Given the description of an element on the screen output the (x, y) to click on. 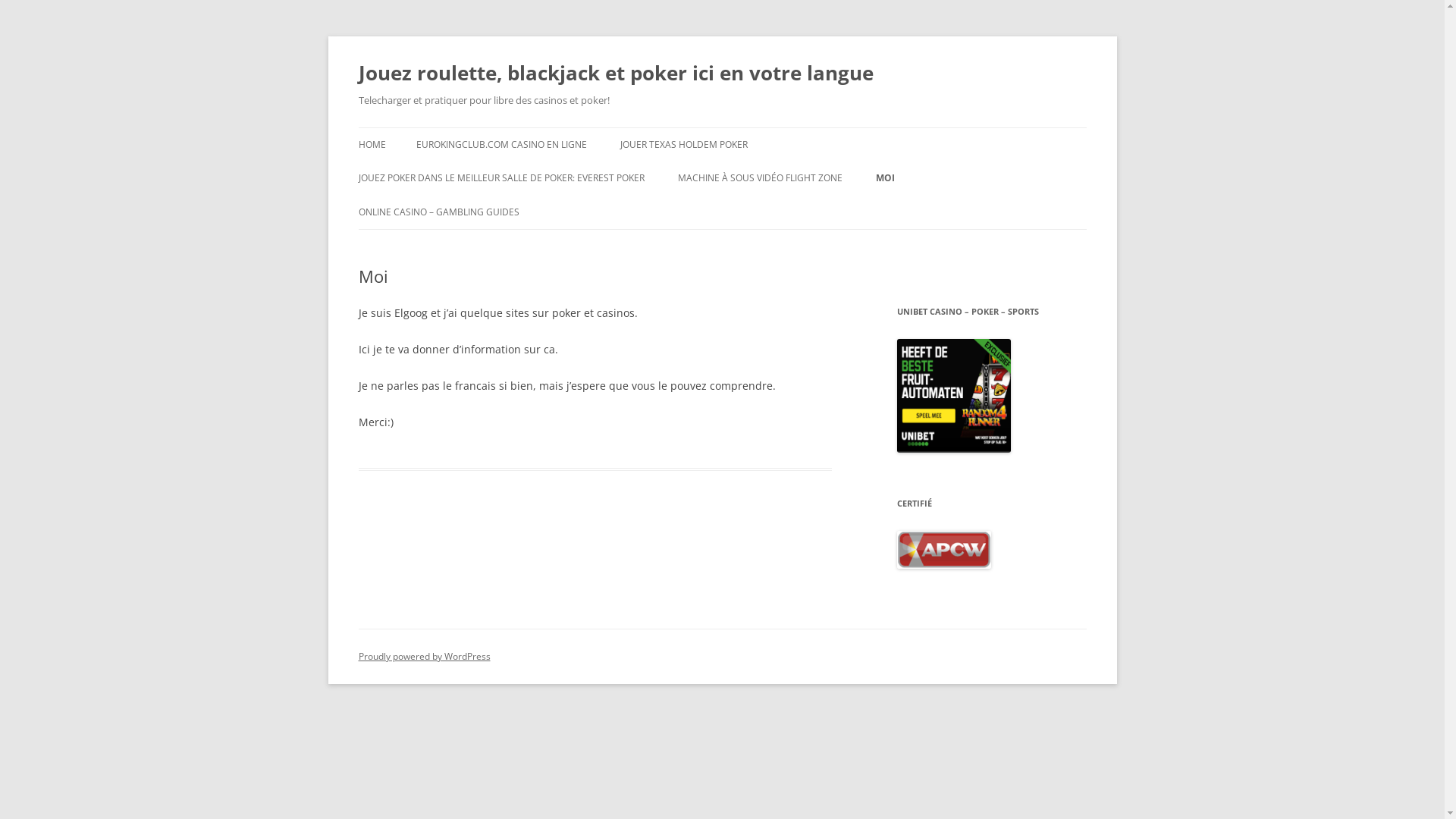
Proudly powered by WordPress Element type: text (423, 655)
Skip to content Element type: text (721, 127)
MOI Element type: text (884, 177)
JOUEZ POKER DANS LE MEILLEUR SALLE DE POKER: EVEREST POKER Element type: text (500, 177)
Jouez roulette, blackjack et poker ici en votre langue Element type: text (614, 72)
HOME Element type: text (371, 144)
EUROKINGCLUB.COM CASINO EN LIGNE Element type: text (500, 144)
JOUER TEXAS HOLDEM POKER Element type: text (683, 144)
